Given the description of an element on the screen output the (x, y) to click on. 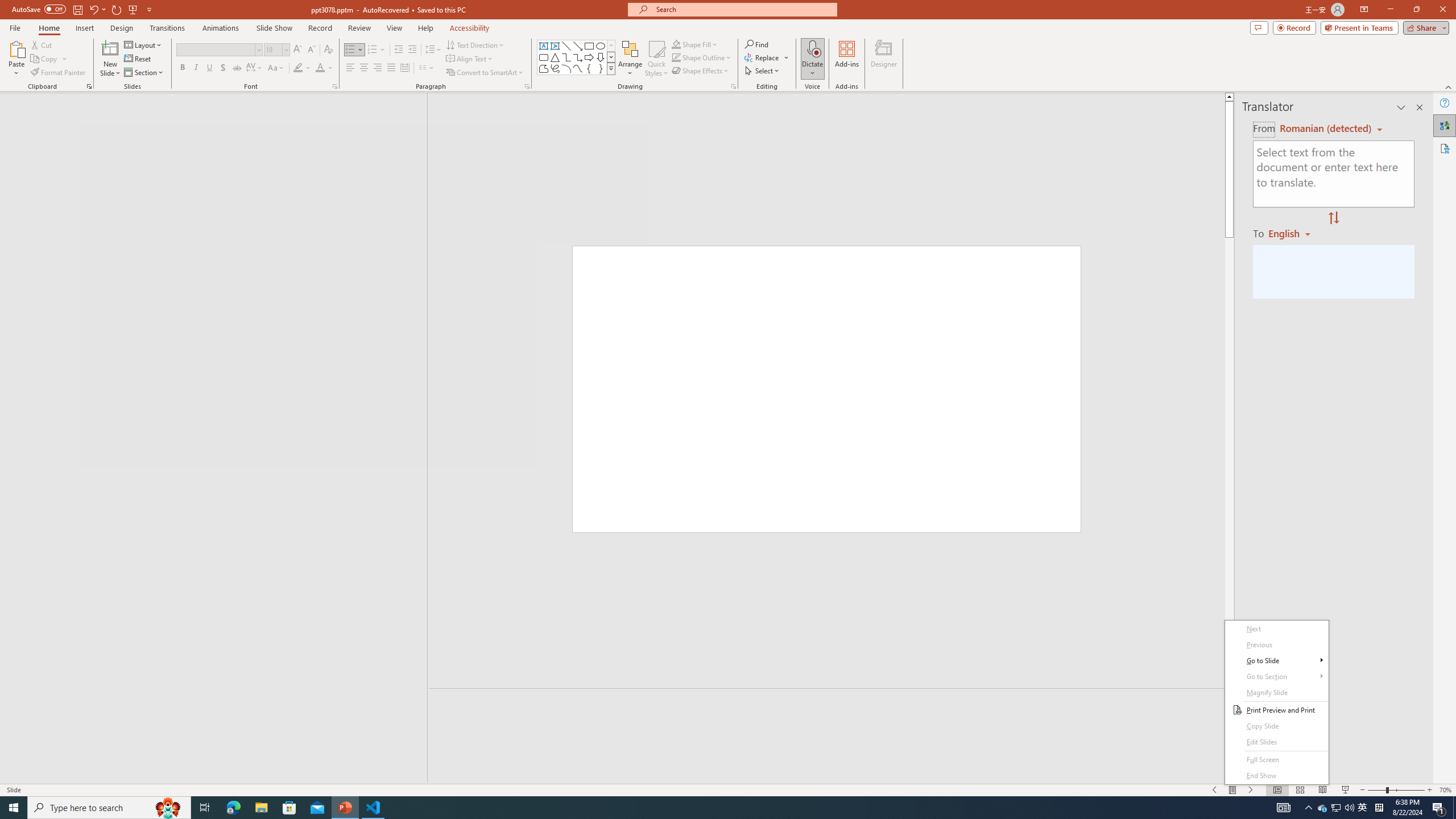
Copy Slide (1276, 726)
Full Screen (1276, 759)
Class: NetUITWMenuContainer (1276, 701)
